Given the description of an element on the screen output the (x, y) to click on. 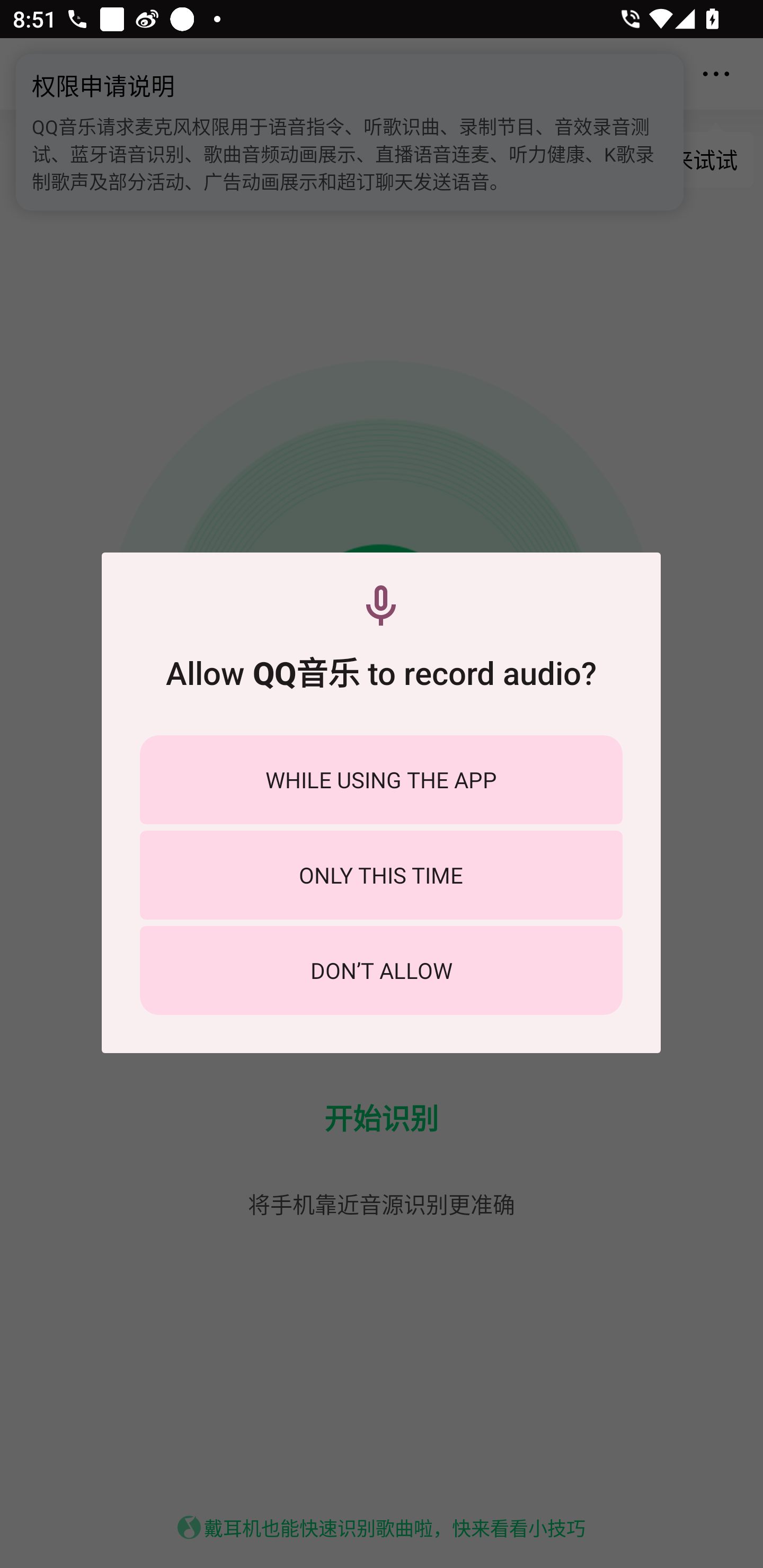
WHILE USING THE APP (380, 779)
ONLY THIS TIME (380, 874)
DON’T ALLOW (380, 970)
